Given the description of an element on the screen output the (x, y) to click on. 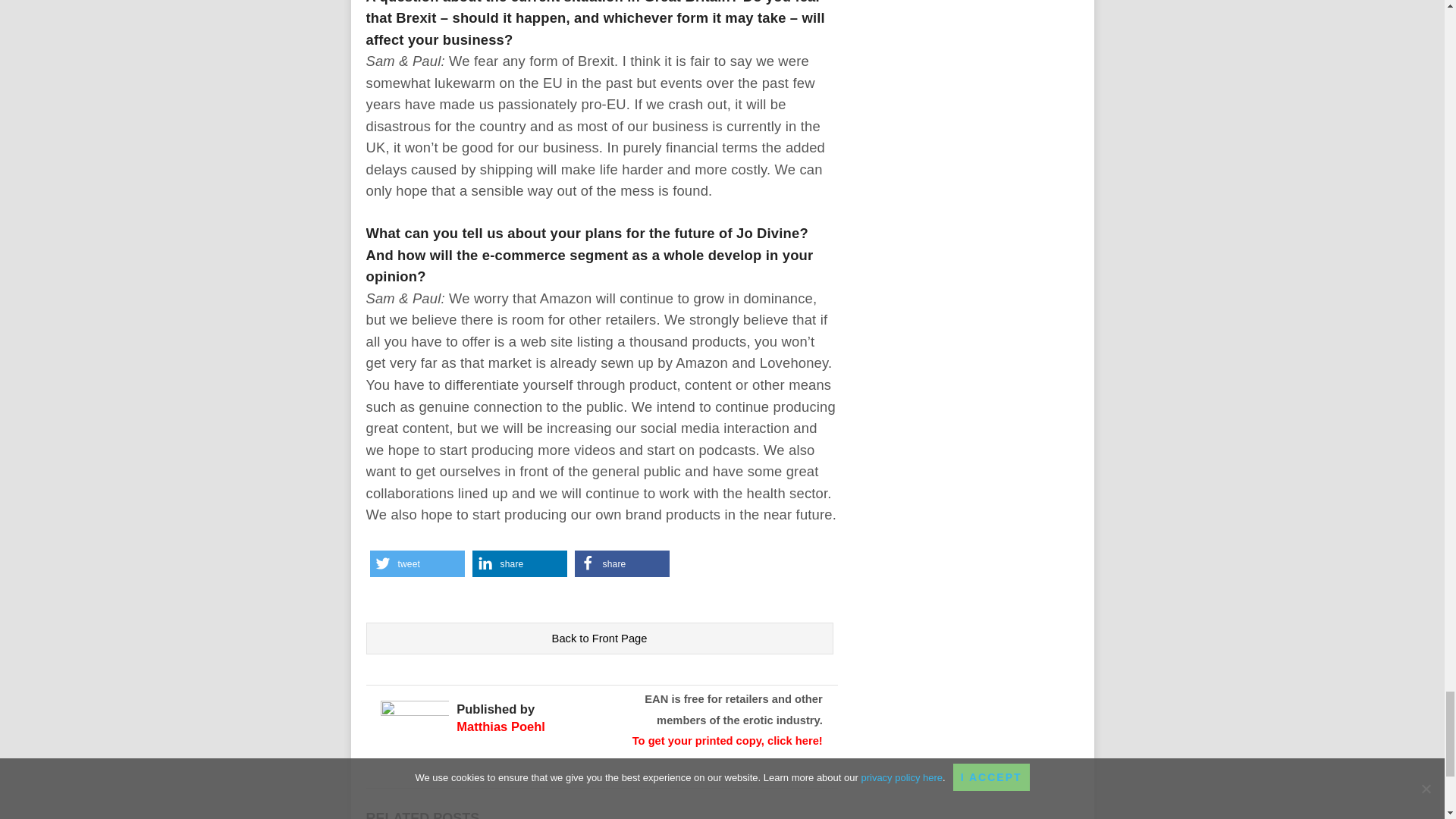
share  (518, 563)
Share on LinkedIn (518, 563)
To get your printed copy, click here! (726, 740)
Share on Facebook (622, 563)
tweet  (416, 563)
Matthias Poehl (500, 726)
Posts by Matthias Poehl (500, 726)
share  (622, 563)
Back to Front Page (599, 638)
Share on Twitter (416, 563)
